Given the description of an element on the screen output the (x, y) to click on. 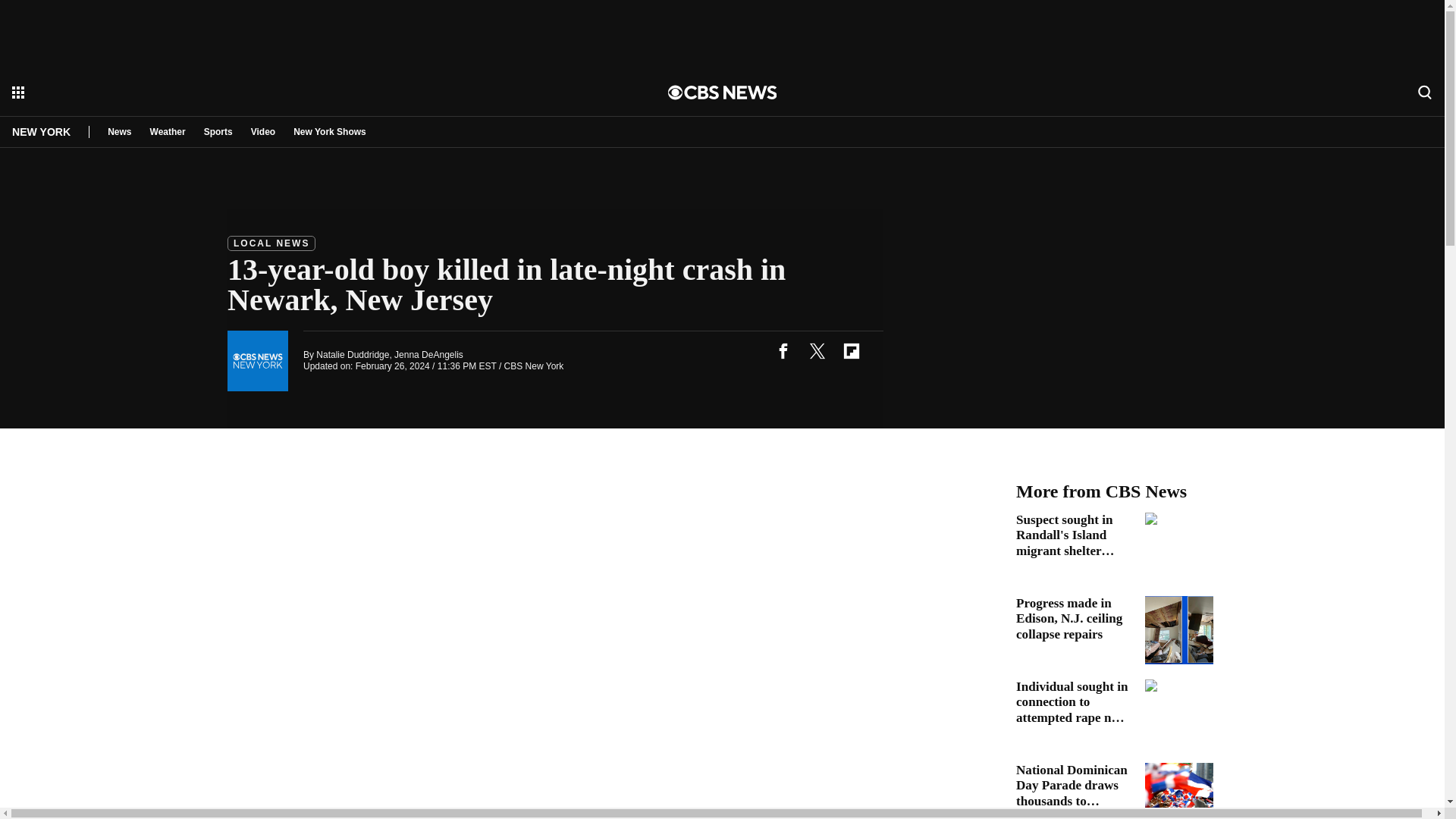
flipboard (850, 350)
facebook (782, 350)
twitter (816, 350)
